Given the description of an element on the screen output the (x, y) to click on. 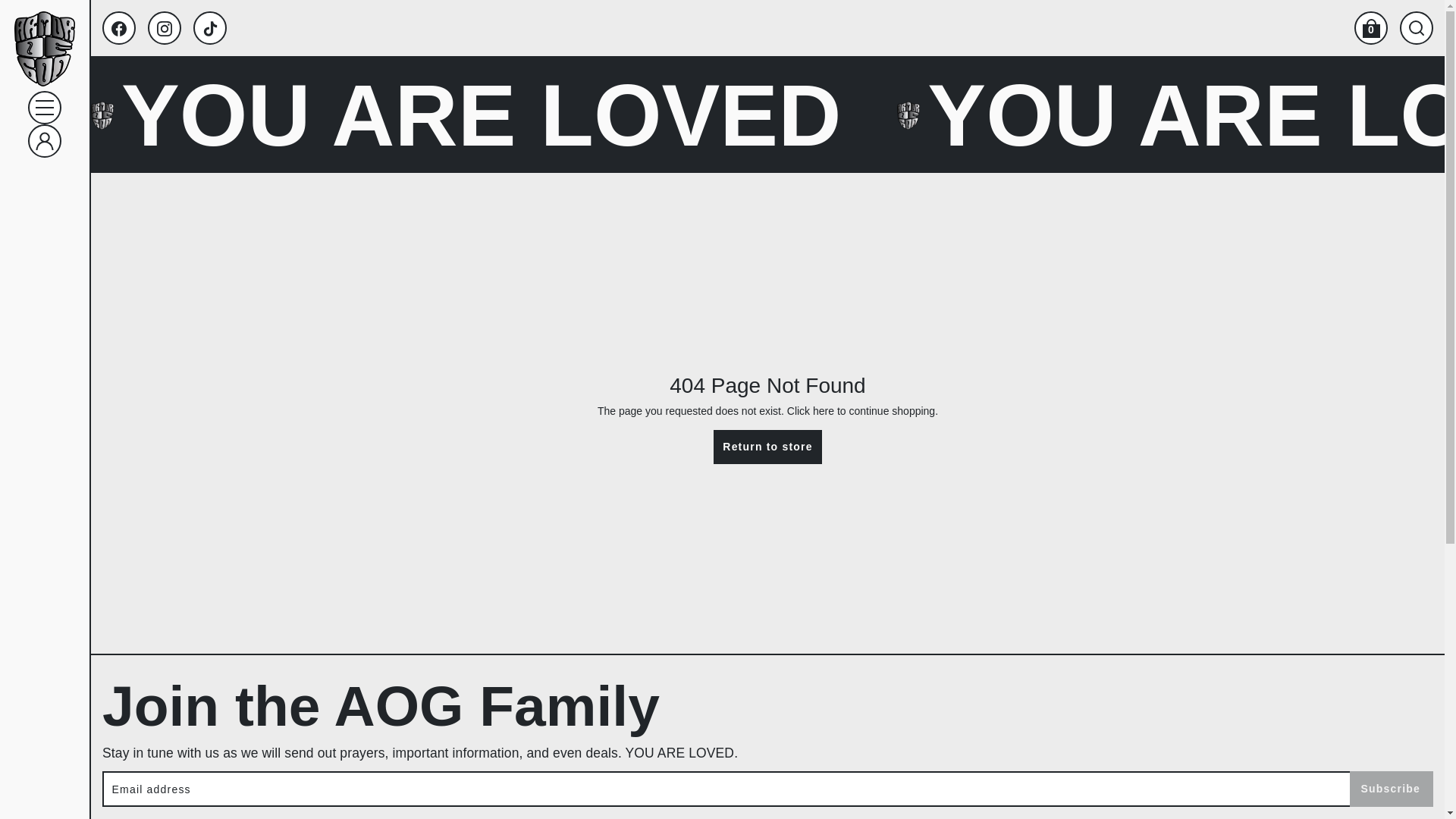
Subscribe (1391, 788)
0 (1370, 28)
Return to store (767, 446)
